Given the description of an element on the screen output the (x, y) to click on. 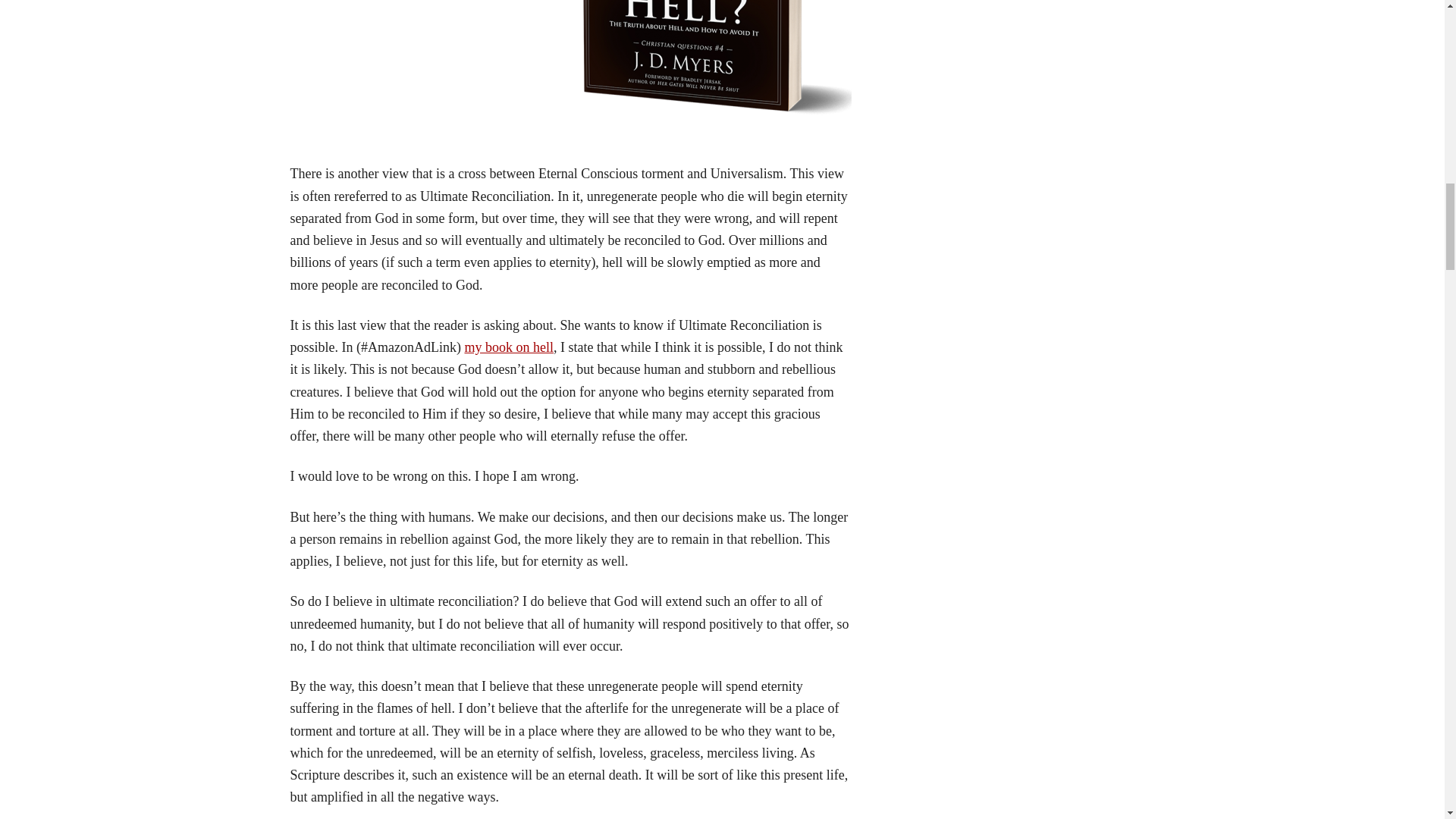
my book on hell (508, 346)
